Given the description of an element on the screen output the (x, y) to click on. 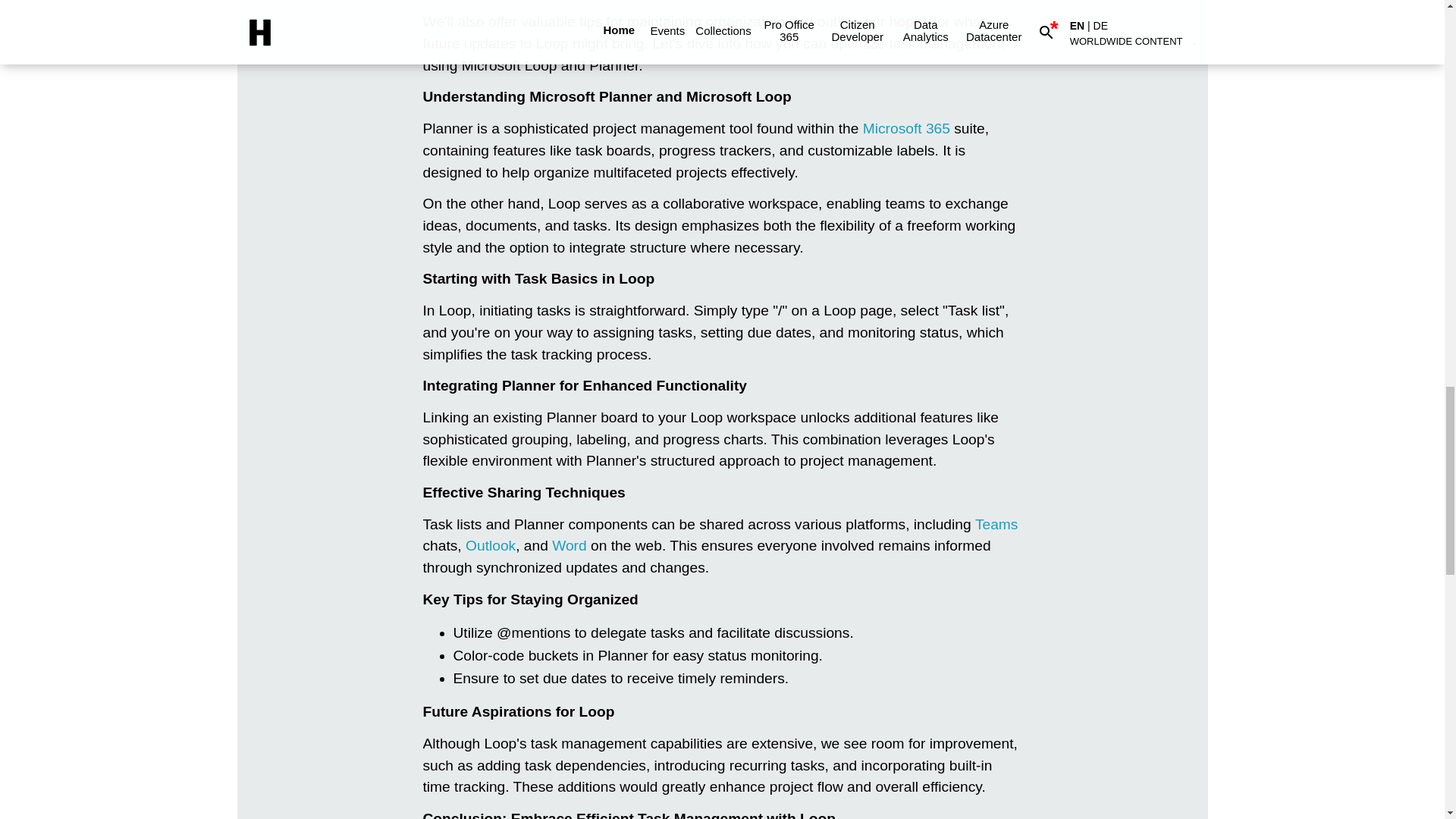
Teams (996, 524)
Word (568, 545)
Outlook (490, 545)
Teams (996, 524)
Microsoft 365 (906, 128)
Word (568, 545)
Microsoft 365 (906, 128)
Outlook (490, 545)
